Given the description of an element on the screen output the (x, y) to click on. 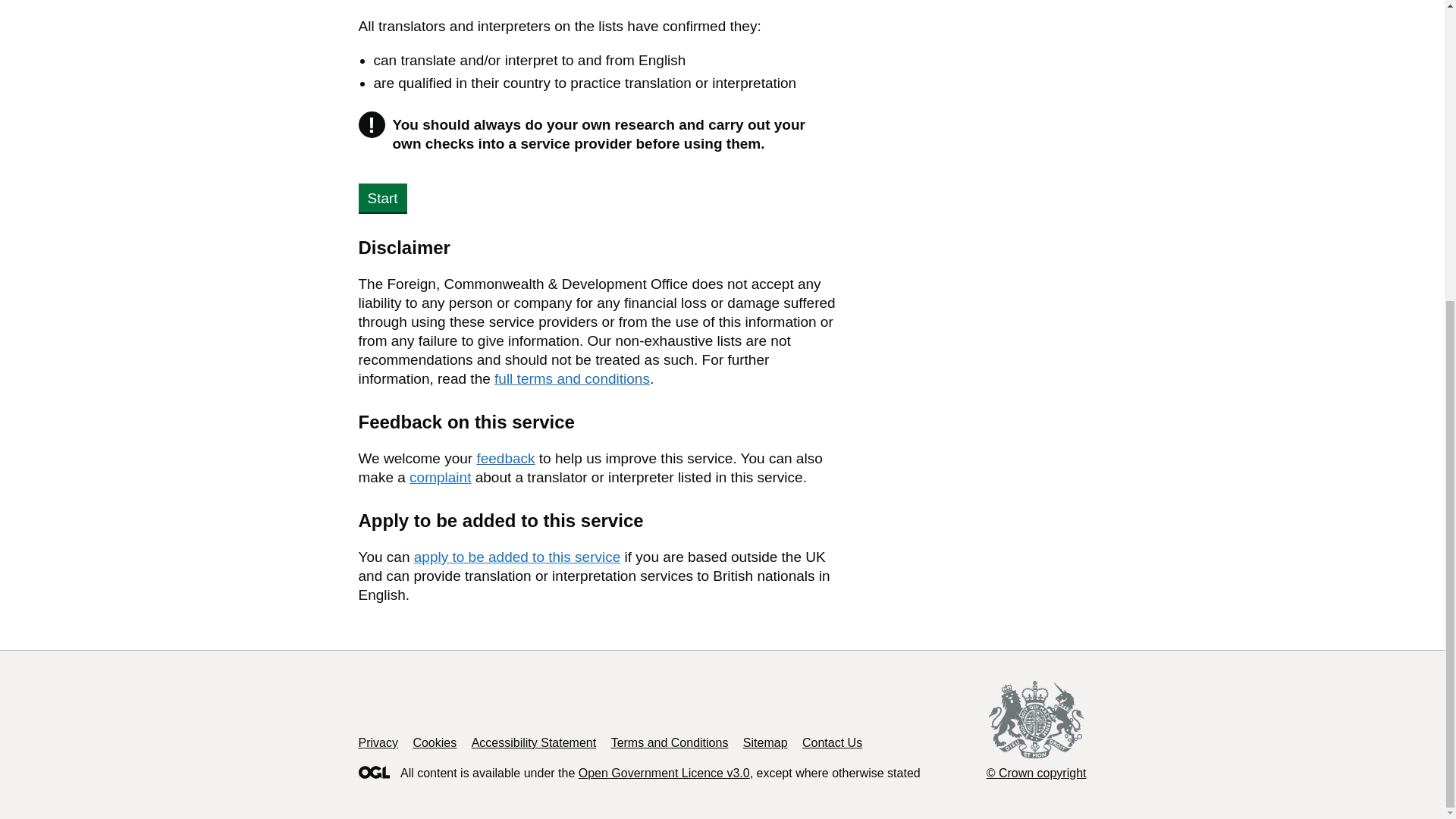
Start (382, 197)
Accessibility Statement (533, 742)
complaint (439, 477)
Terms and Conditions (670, 742)
Sitemap (764, 742)
Cookies (434, 742)
apply to be added to this service (517, 556)
Contact Us (831, 742)
full terms and conditions (572, 378)
feedback (505, 458)
Open Government Licence v3.0 (663, 772)
Privacy (377, 742)
